Given the description of an element on the screen output the (x, y) to click on. 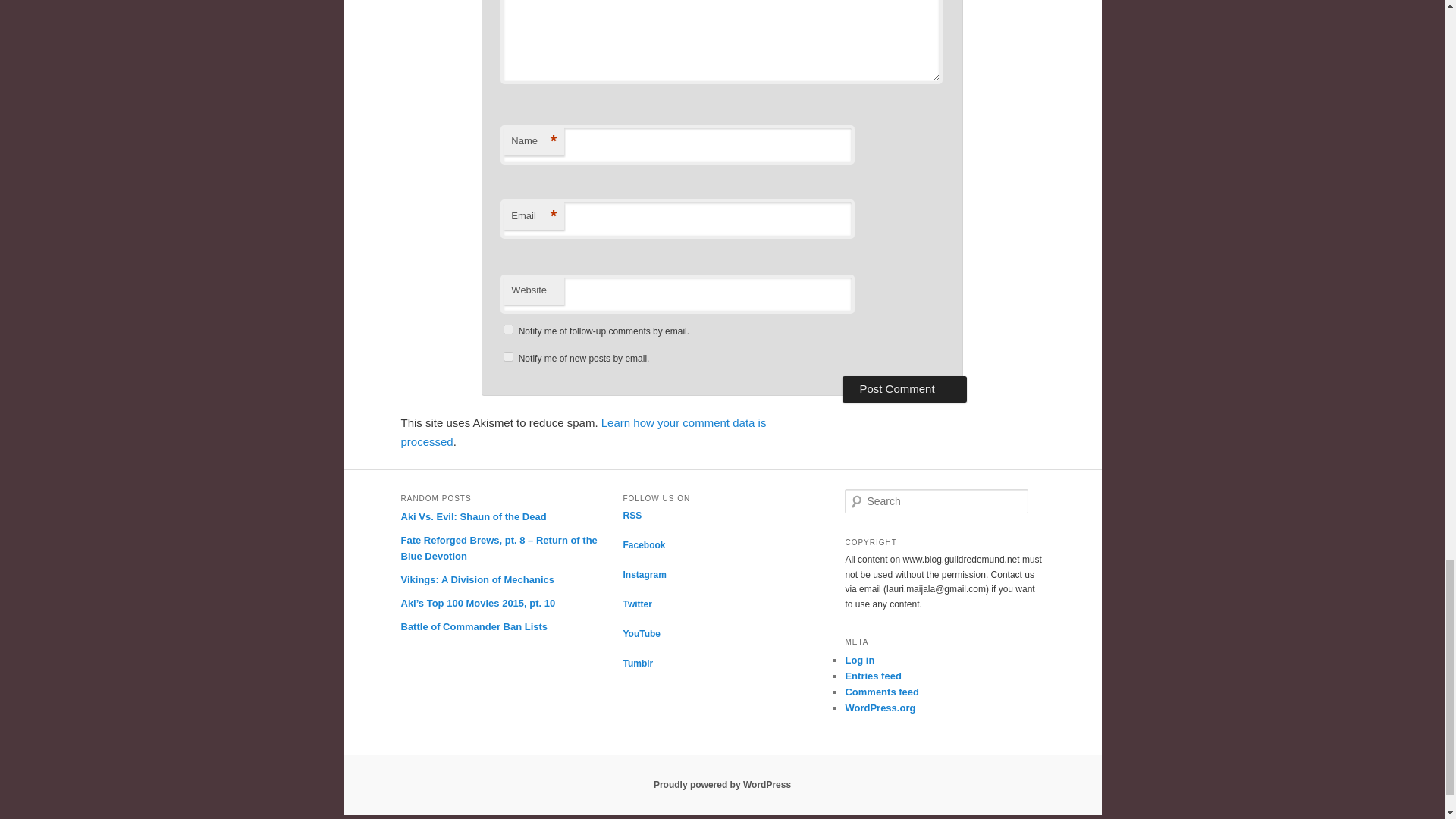
Twitter (636, 603)
YouTube (642, 633)
Post Comment (904, 388)
Battle of Commander Ban Lists (473, 626)
Aki Vs. Evil: Shaun of the Dead (473, 516)
subscribe (508, 329)
Post Comment (904, 388)
Vikings: A Division of Mechanics (477, 579)
Instagram (644, 574)
subscribe (508, 356)
Tumblr (637, 663)
Learn how your comment data is processed (582, 431)
Semantic Personal Publishing Platform (721, 784)
RSS (632, 515)
Facebook (644, 544)
